Given the description of an element on the screen output the (x, y) to click on. 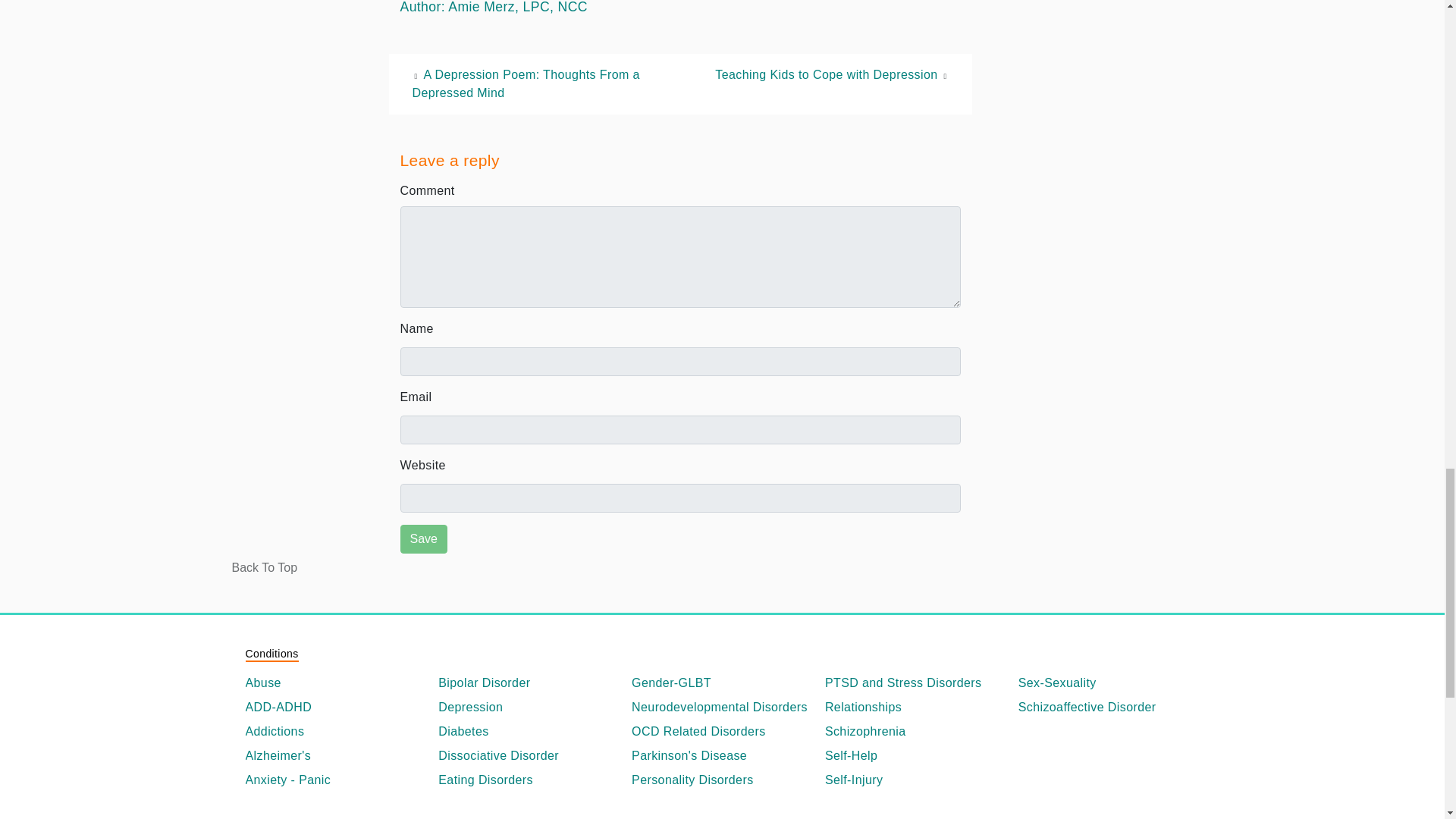
Parkinson's Disease Information Articles (721, 755)
